Given the description of an element on the screen output the (x, y) to click on. 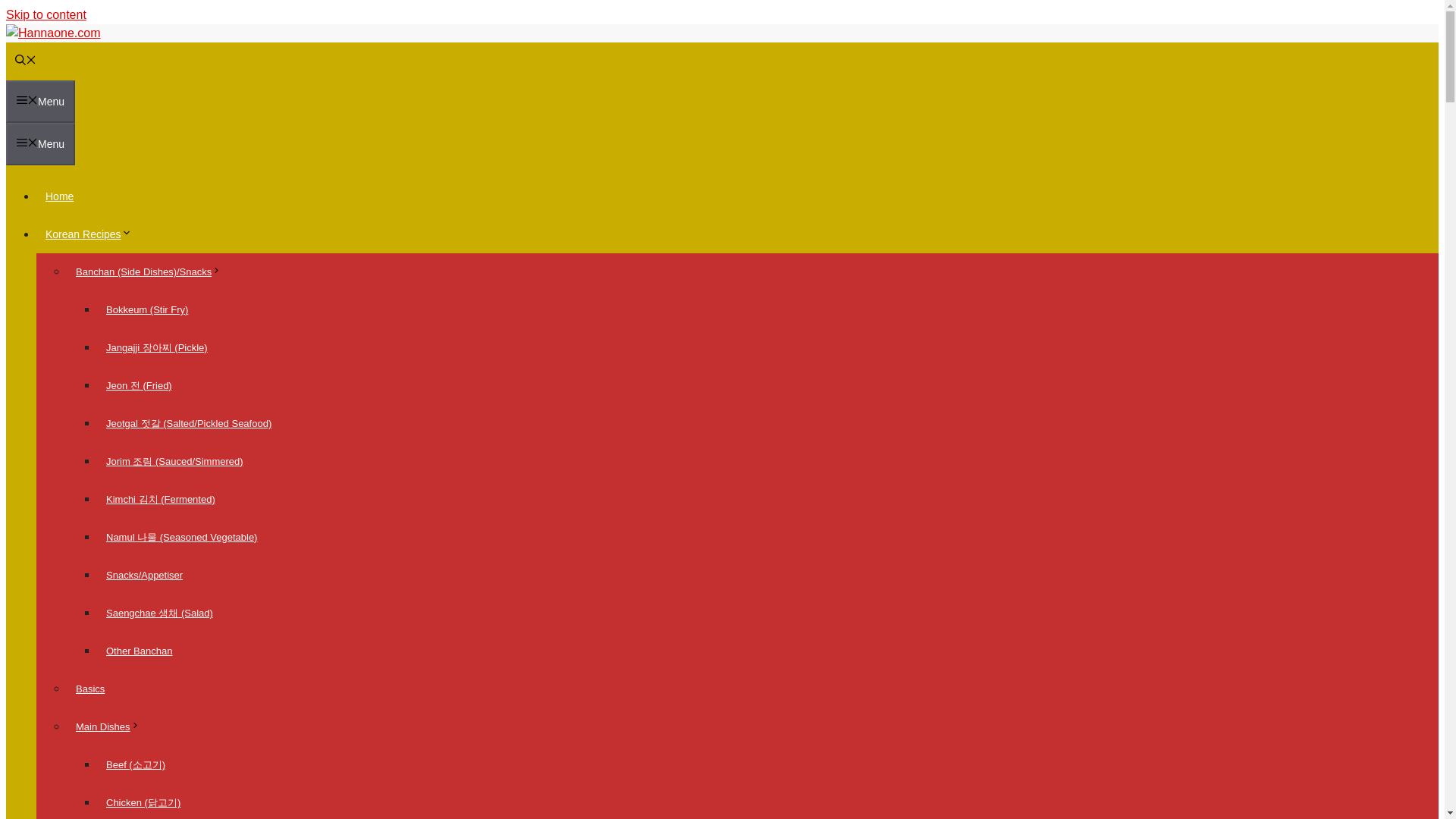
Menu (40, 143)
Basics (89, 688)
Menu (40, 101)
Skip to content (45, 14)
Home (59, 196)
Korean Recipes (92, 234)
Skip to content (45, 14)
Other Banchan (138, 651)
Main Dishes (112, 726)
